Given the description of an element on the screen output the (x, y) to click on. 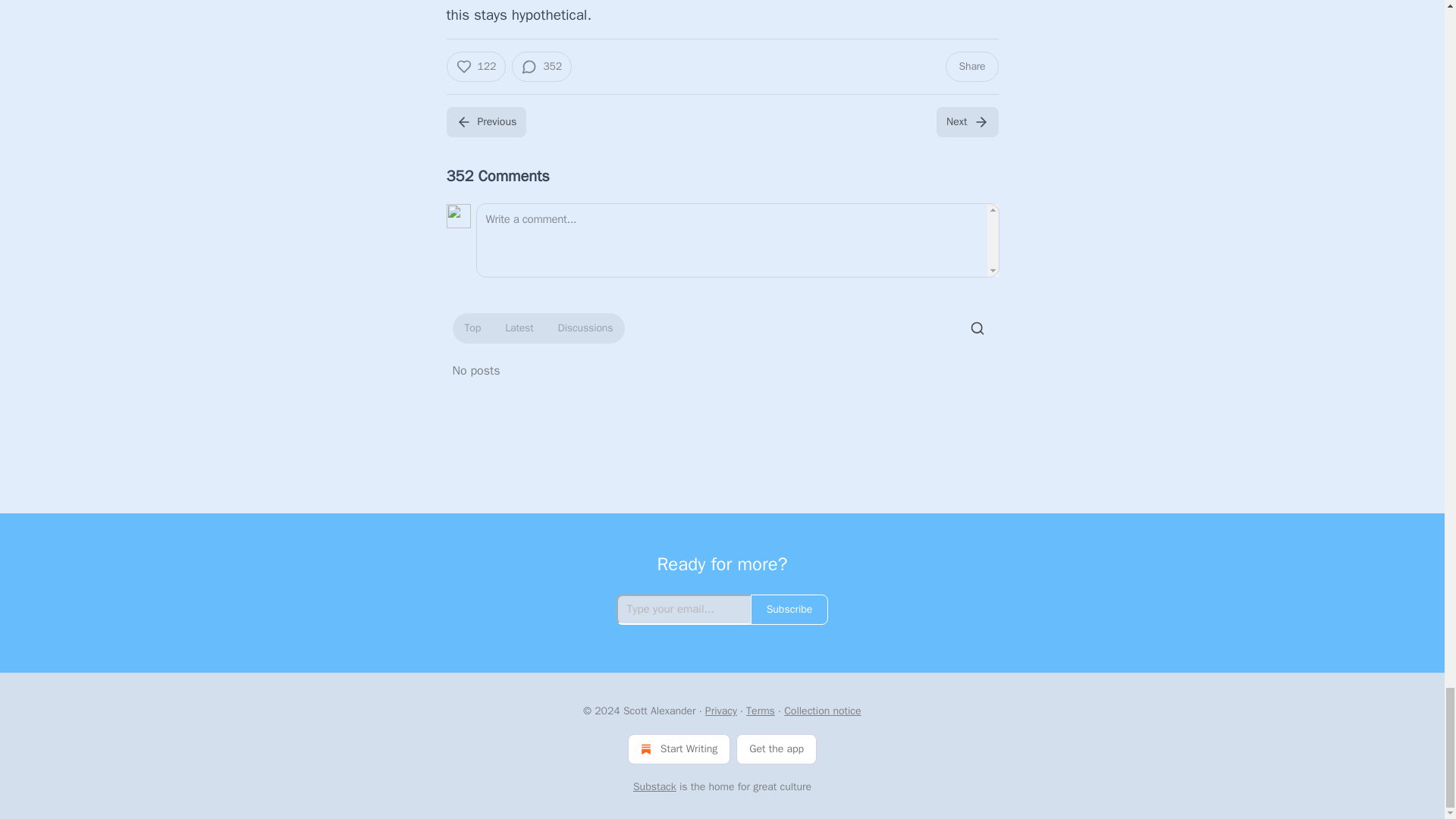
352 (542, 66)
122 (475, 66)
Share (970, 66)
